Given the description of an element on the screen output the (x, y) to click on. 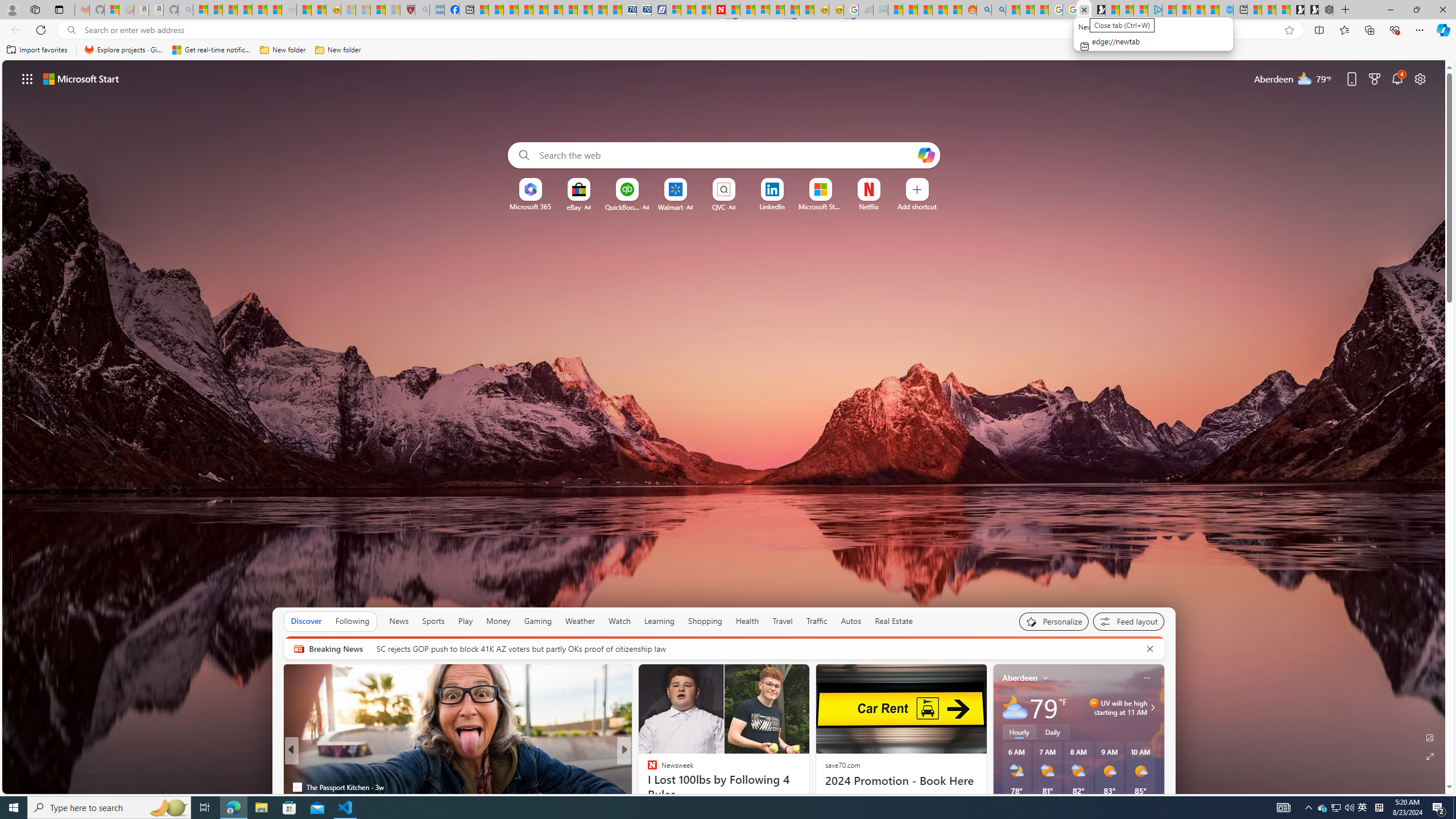
Popular Mechanics (647, 768)
Health (746, 621)
Metro (296, 768)
Page settings (1420, 78)
Sports (432, 621)
Real Estate (893, 621)
Open Copilot (926, 154)
New Report Confirms 2023 Was Record Hot | Watch (259, 9)
The Weather Channel - MSN (229, 9)
